Given the description of an element on the screen output the (x, y) to click on. 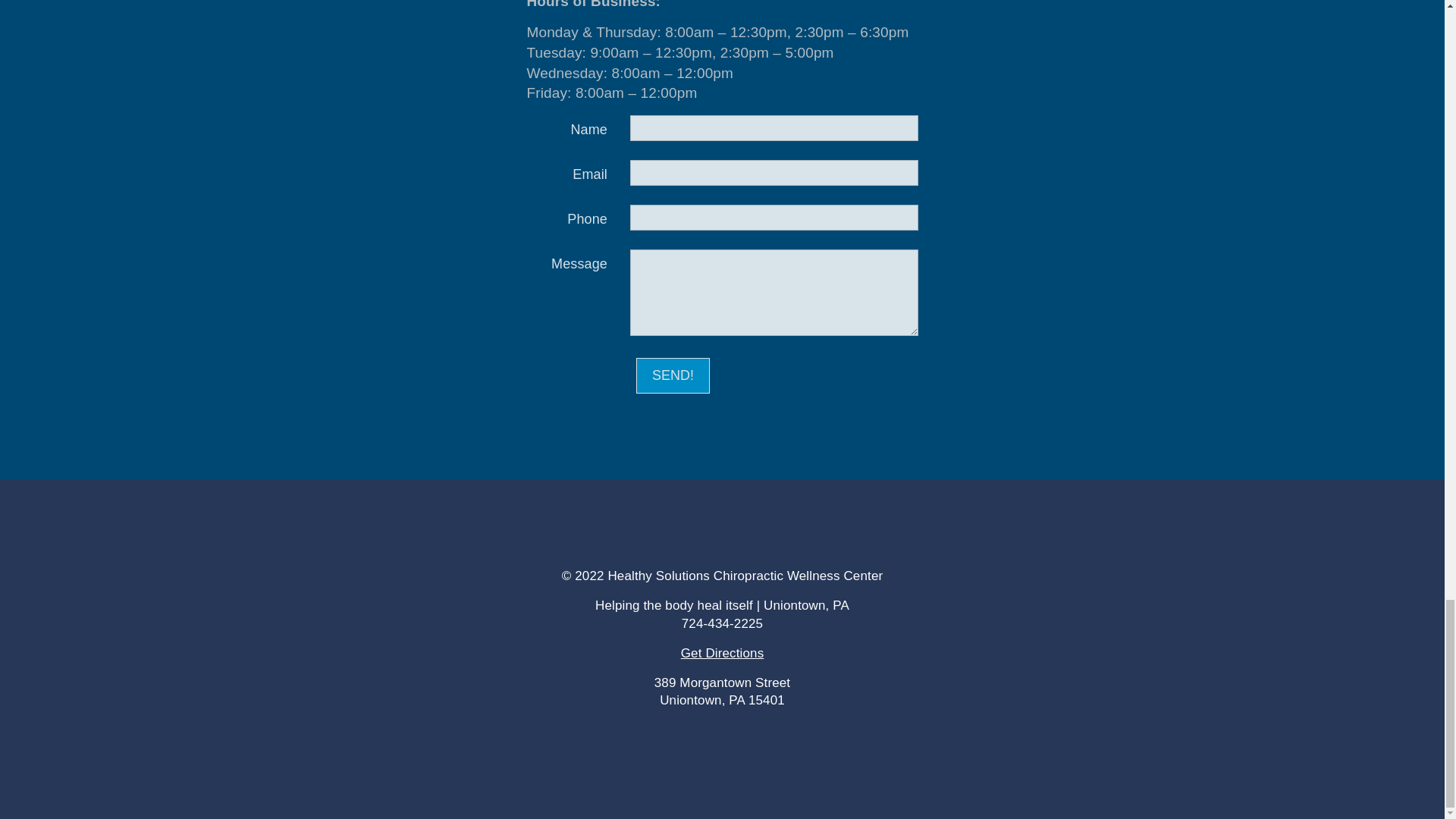
Get Directions (722, 653)
SEND! (673, 375)
